Given the description of an element on the screen output the (x, y) to click on. 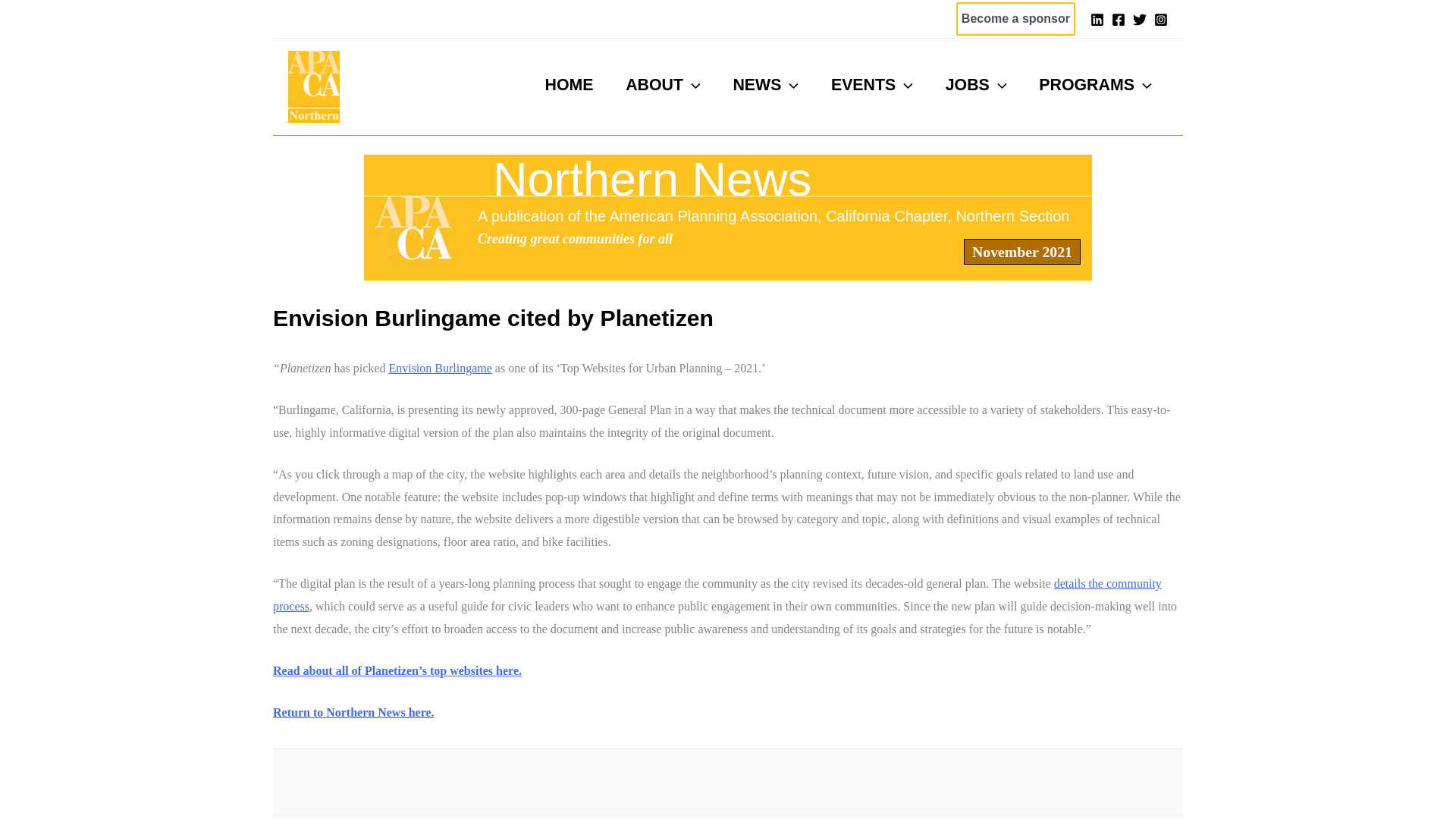
EVENTS (872, 84)
PROGRAMS (1095, 84)
NEWS (764, 84)
HOME (569, 84)
ABOUT (663, 84)
Become a sponsor (1015, 19)
JOBS (975, 84)
